Given the description of an element on the screen output the (x, y) to click on. 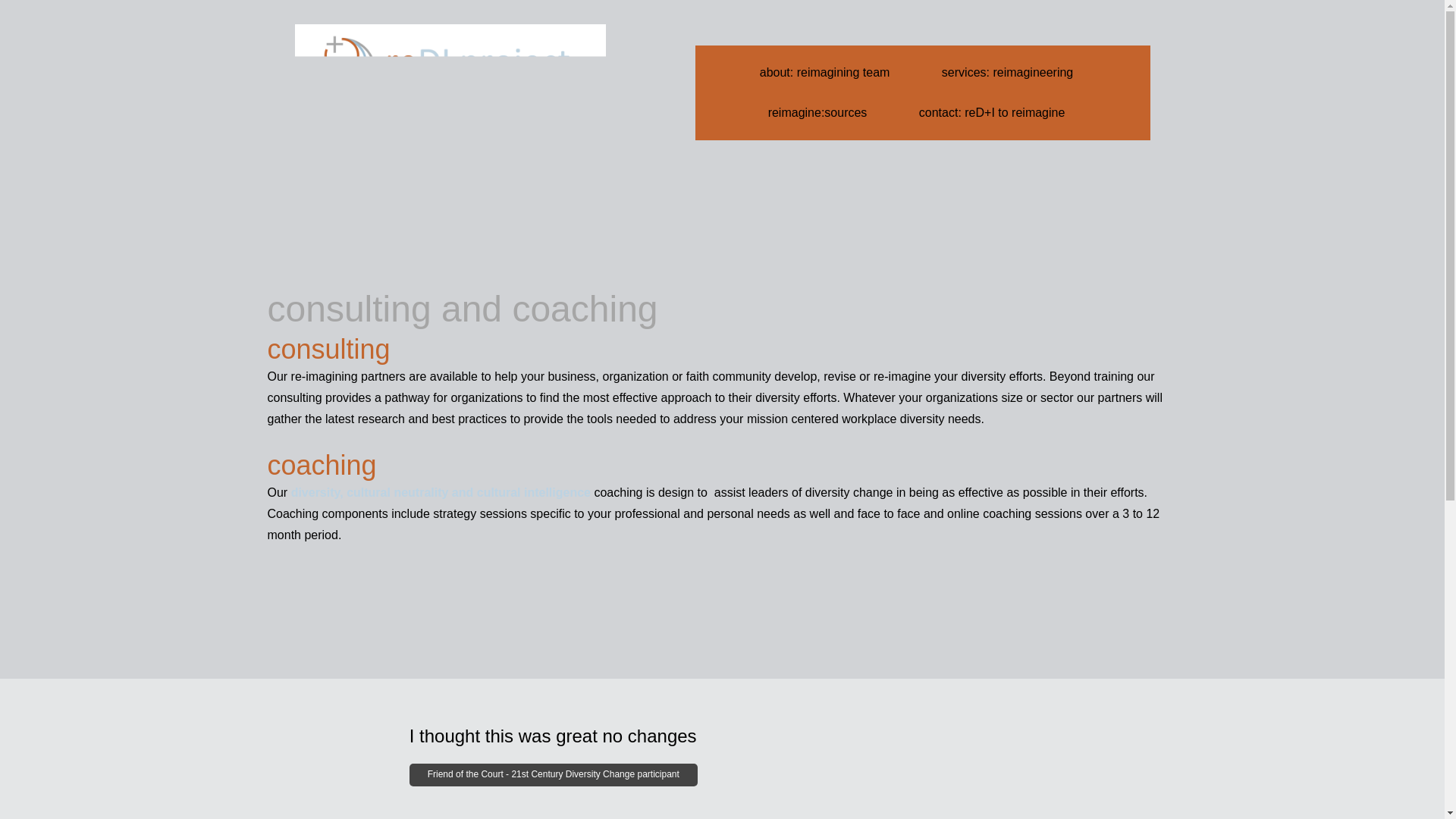
services: reimagineering (1007, 72)
about: reimagining team (824, 72)
reimagine:sources (817, 112)
